Given the description of an element on the screen output the (x, y) to click on. 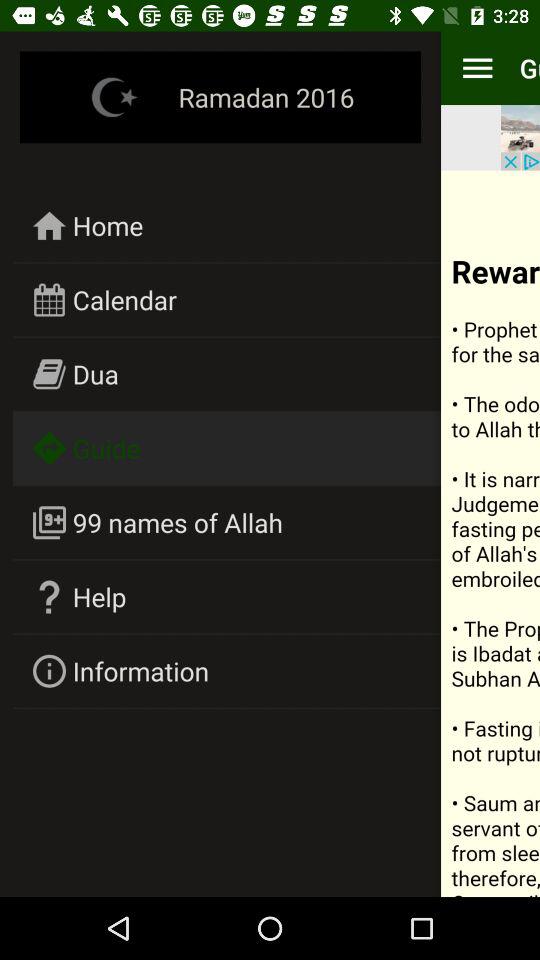
turn off icon below calendar icon (95, 373)
